Given the description of an element on the screen output the (x, y) to click on. 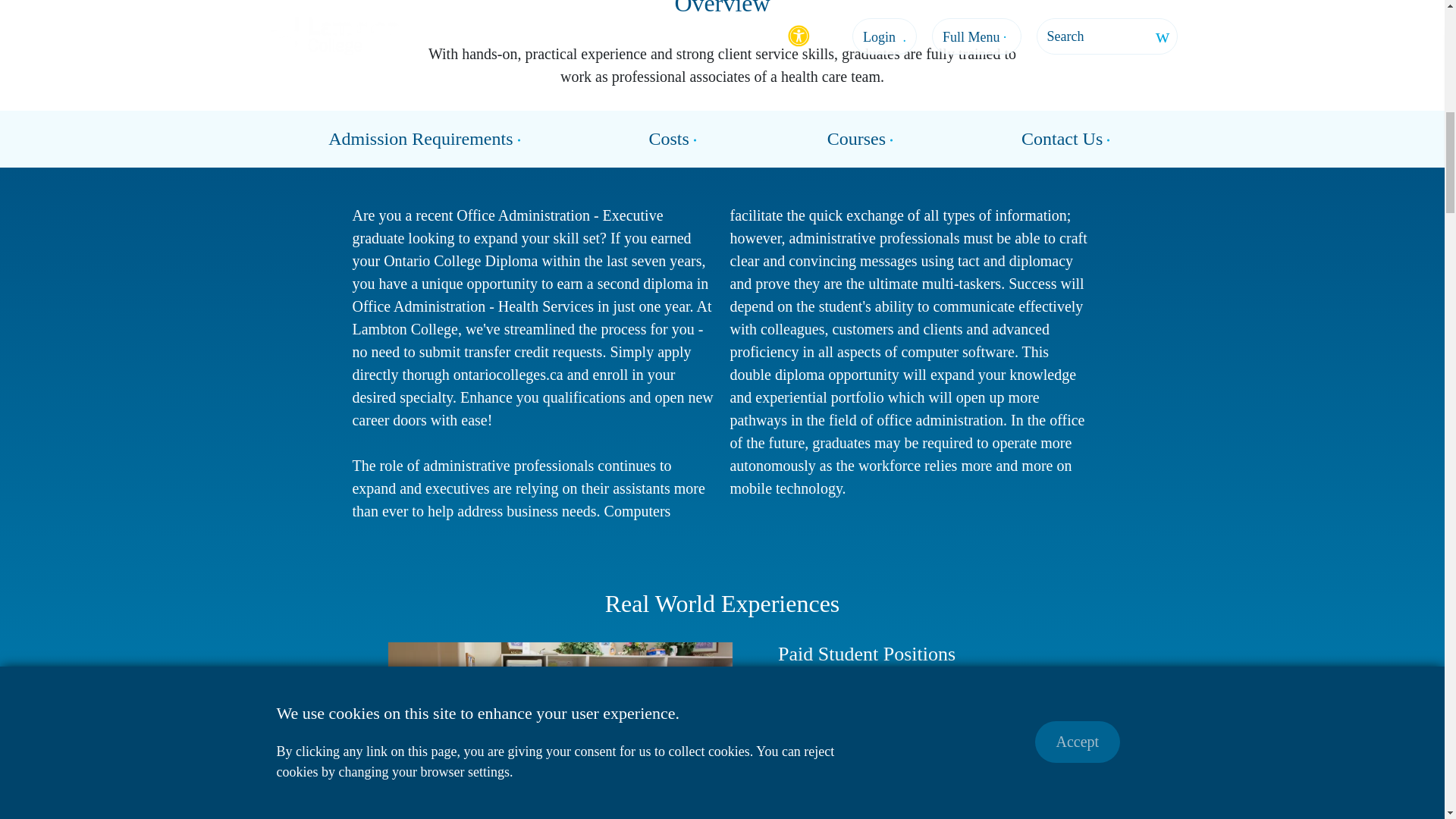
Contact Us (1067, 138)
Courses (862, 138)
Costs (675, 138)
Admission Requirements (426, 138)
